Given the description of an element on the screen output the (x, y) to click on. 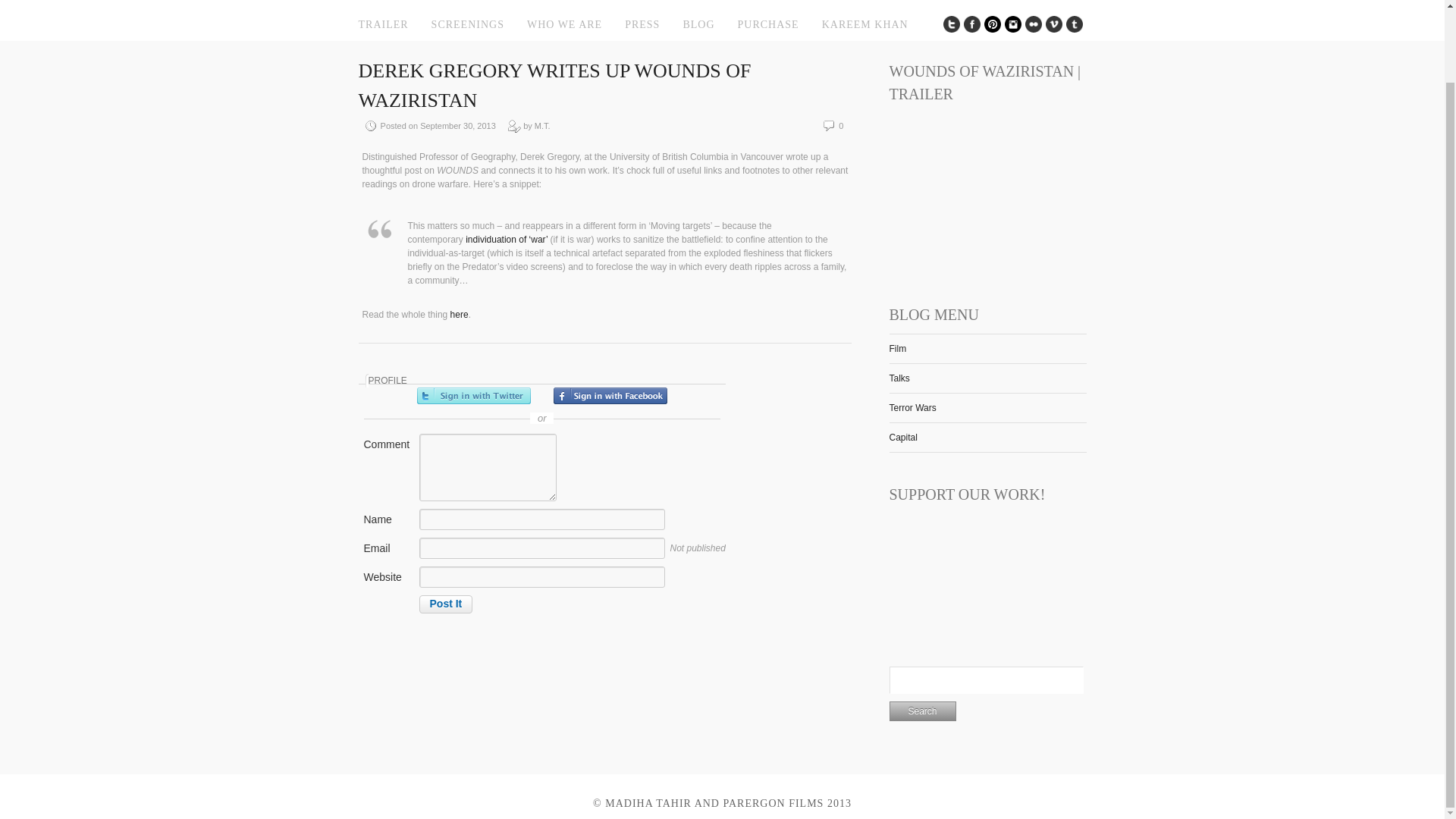
SCREENINGS (466, 24)
Post It (445, 604)
Talks (898, 378)
WHO WE ARE (564, 24)
TRAILER (382, 24)
BLOG (698, 24)
Sign in with Facebook (609, 395)
Search (921, 711)
Film (896, 348)
Capital (902, 437)
